Given the description of an element on the screen output the (x, y) to click on. 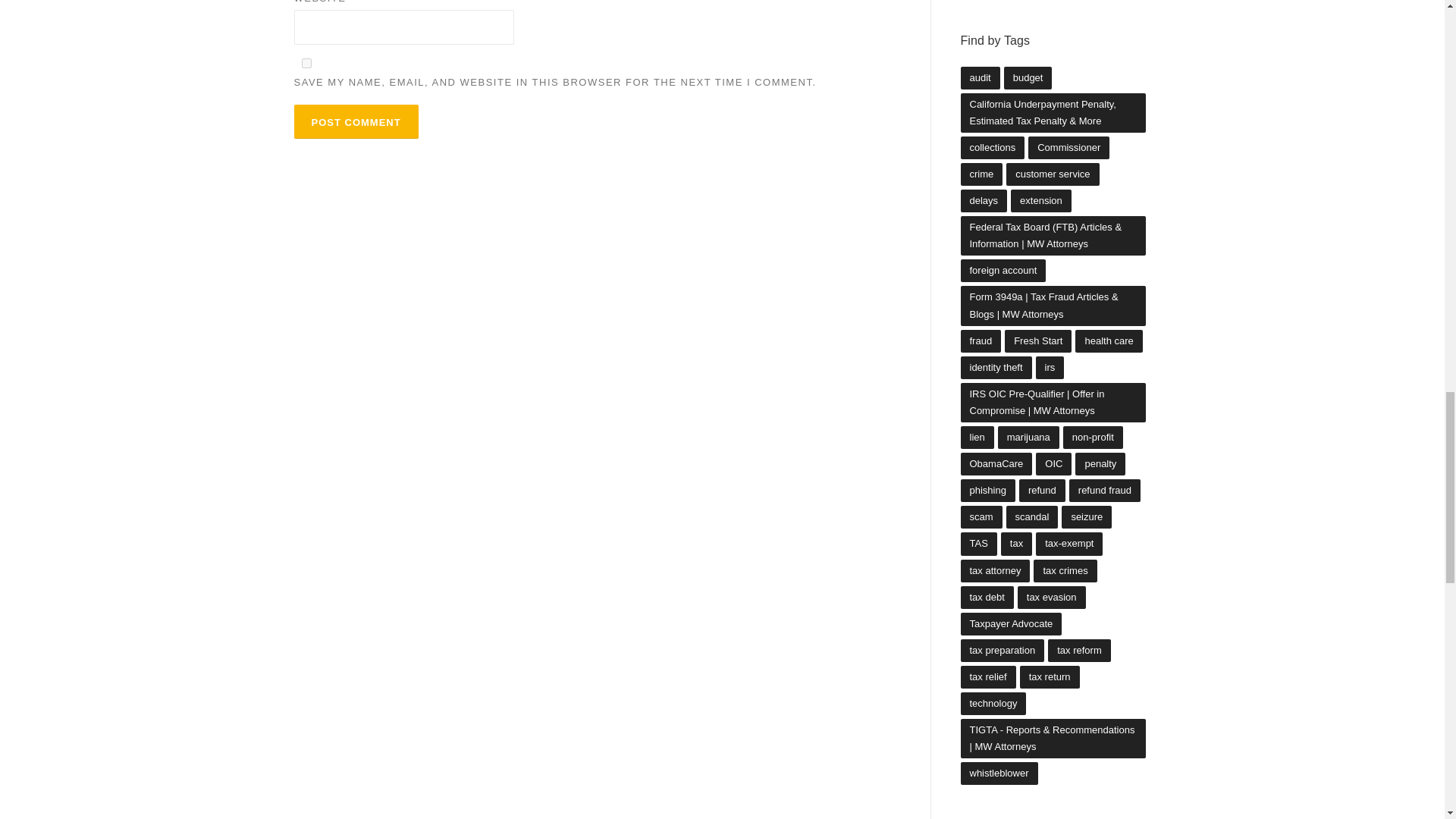
yes (306, 62)
Post Comment (356, 121)
